Given the description of an element on the screen output the (x, y) to click on. 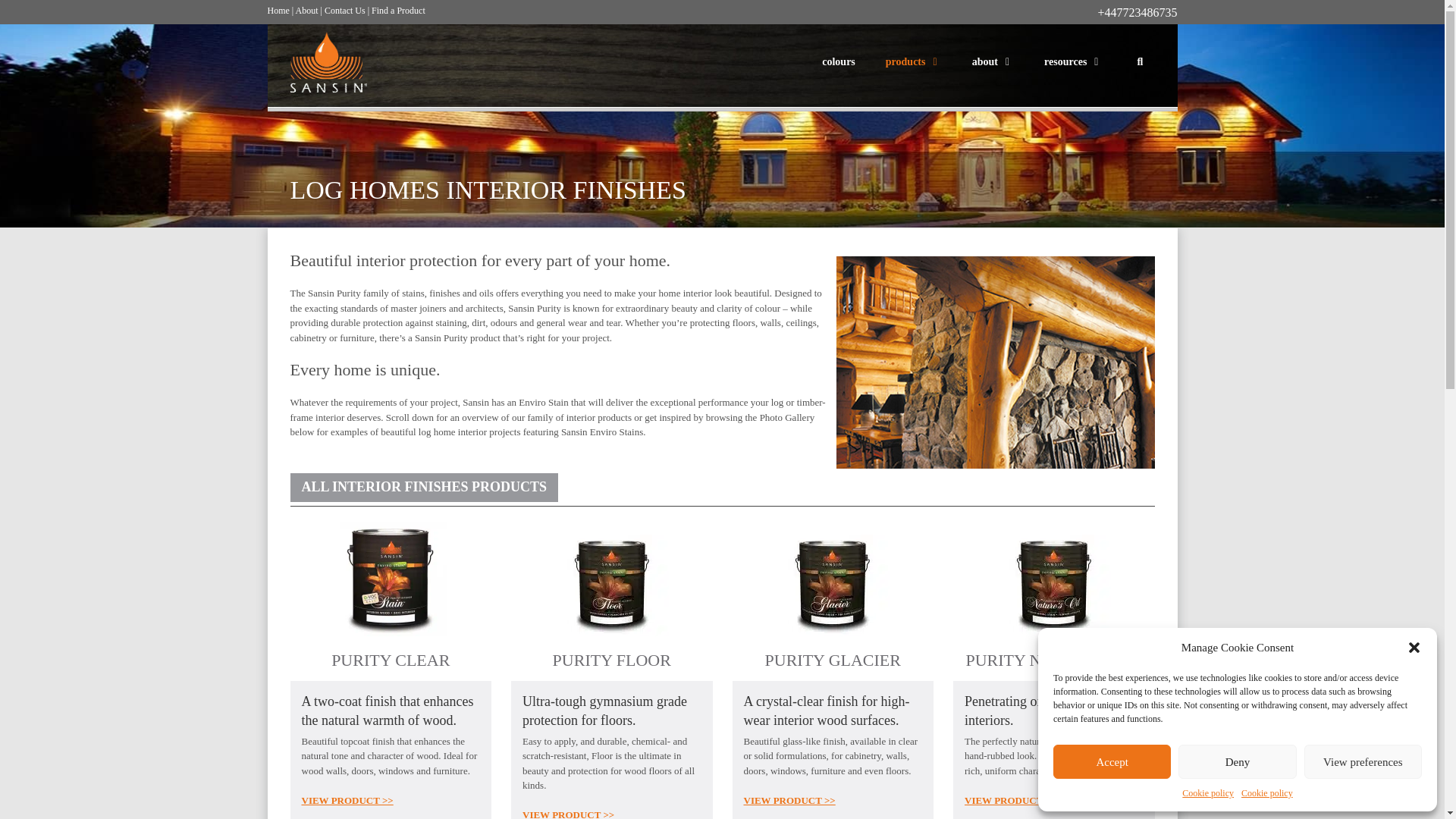
Accept (1111, 761)
About (306, 9)
Cookie policy (1266, 793)
Contact Us (344, 9)
Home (277, 9)
The Sansin Corporation UK (331, 61)
Cookie policy (1207, 793)
products (913, 61)
Find a Product (398, 9)
View preferences (1363, 761)
Deny (1236, 761)
